Given the description of an element on the screen output the (x, y) to click on. 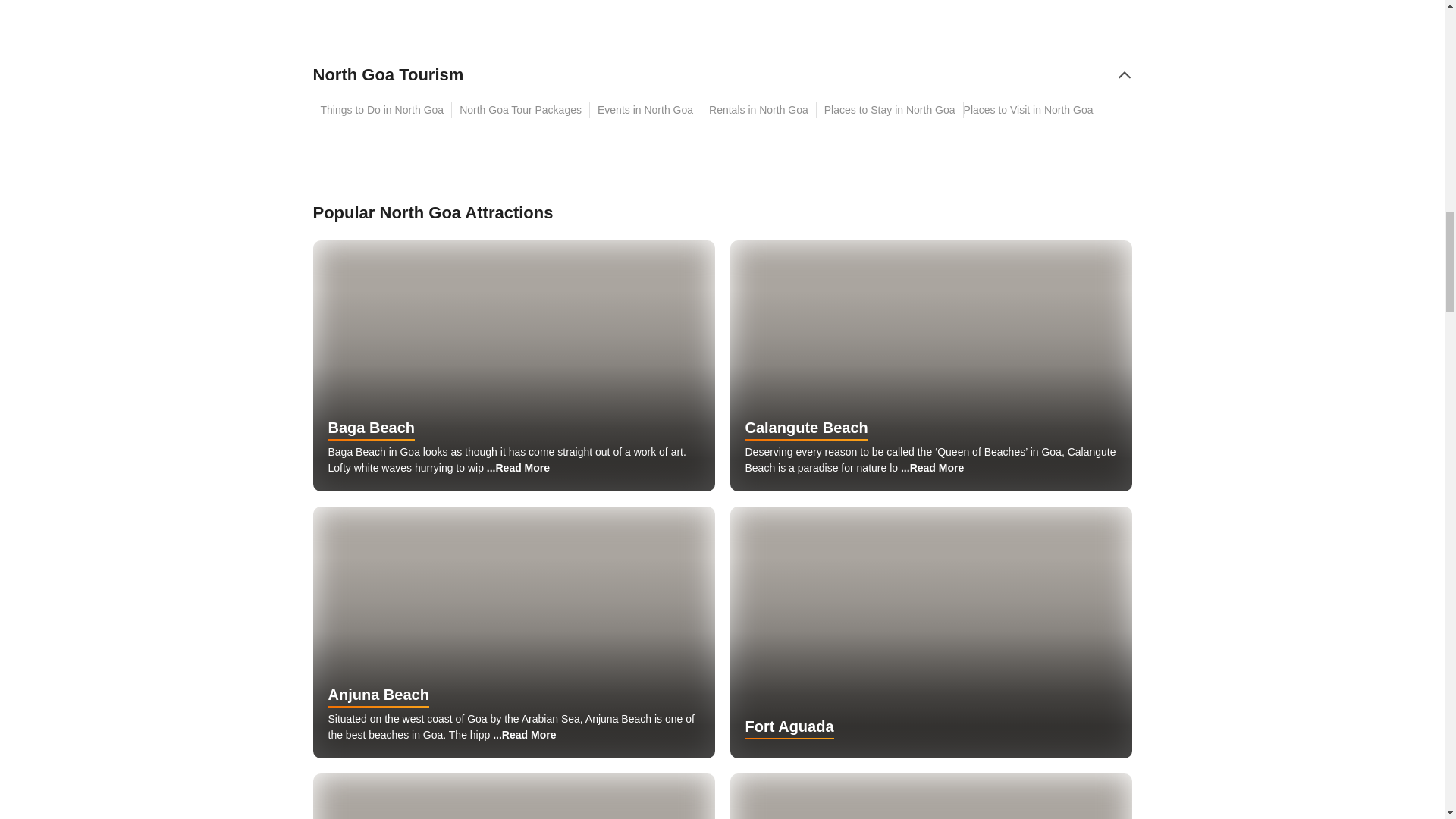
Rentals in North Goa (758, 109)
Fort Aguada (930, 631)
Things to Do in North Goa (382, 109)
North Goa Tour Packages (520, 109)
North Goa Tourism (388, 74)
Places to Stay in North Goa (889, 109)
Places to Visit in North Goa (1031, 109)
